Given the description of an element on the screen output the (x, y) to click on. 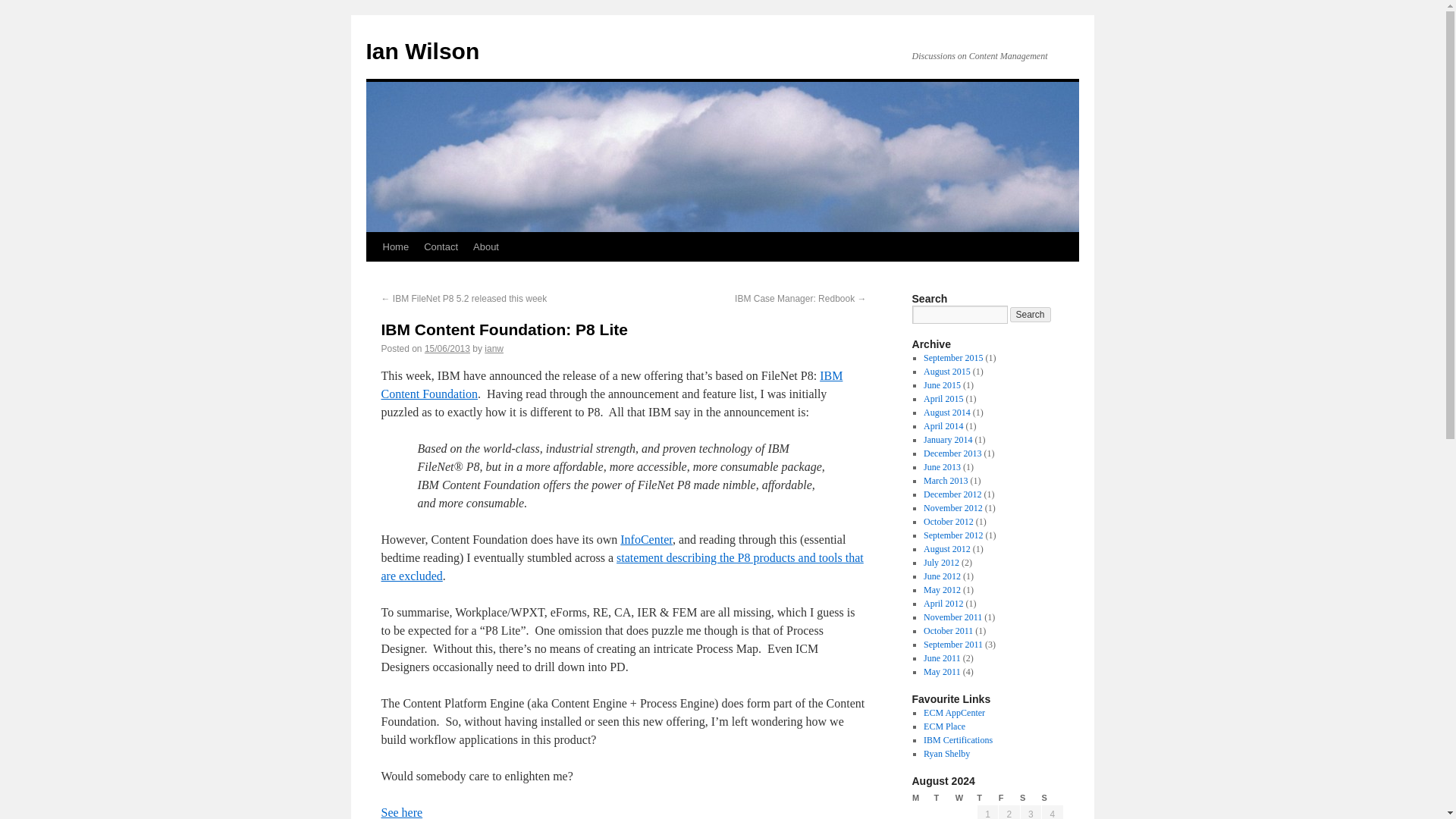
May 2012 (941, 589)
November 2011 (952, 616)
Monday (922, 798)
Ian Wilson (422, 50)
Saturday (1030, 798)
November 2012 (952, 507)
Sunday (1052, 798)
September 2012 (952, 534)
March 2013 (945, 480)
Thursday (986, 798)
